Given the description of an element on the screen output the (x, y) to click on. 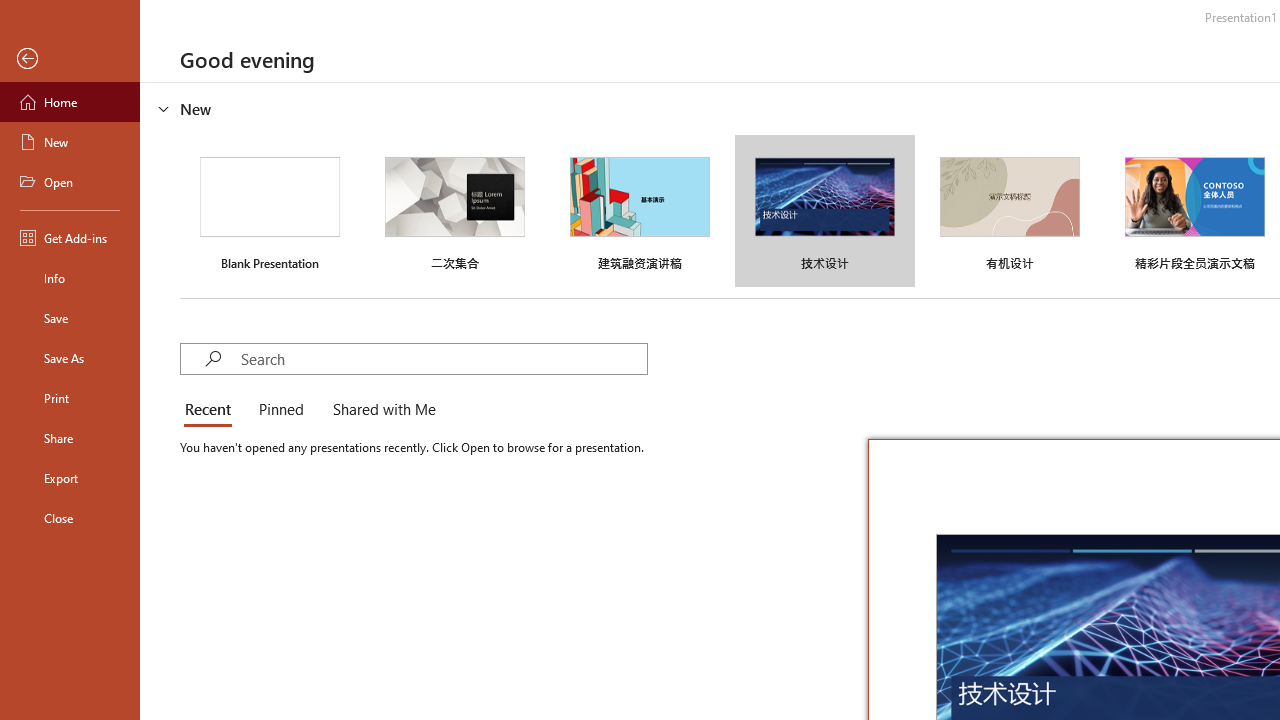
Info (69, 277)
Get Add-ins (69, 237)
Back (69, 59)
Pinned (280, 410)
Save As (69, 357)
Hide or show region (164, 108)
Print (69, 398)
